Given the description of an element on the screen output the (x, y) to click on. 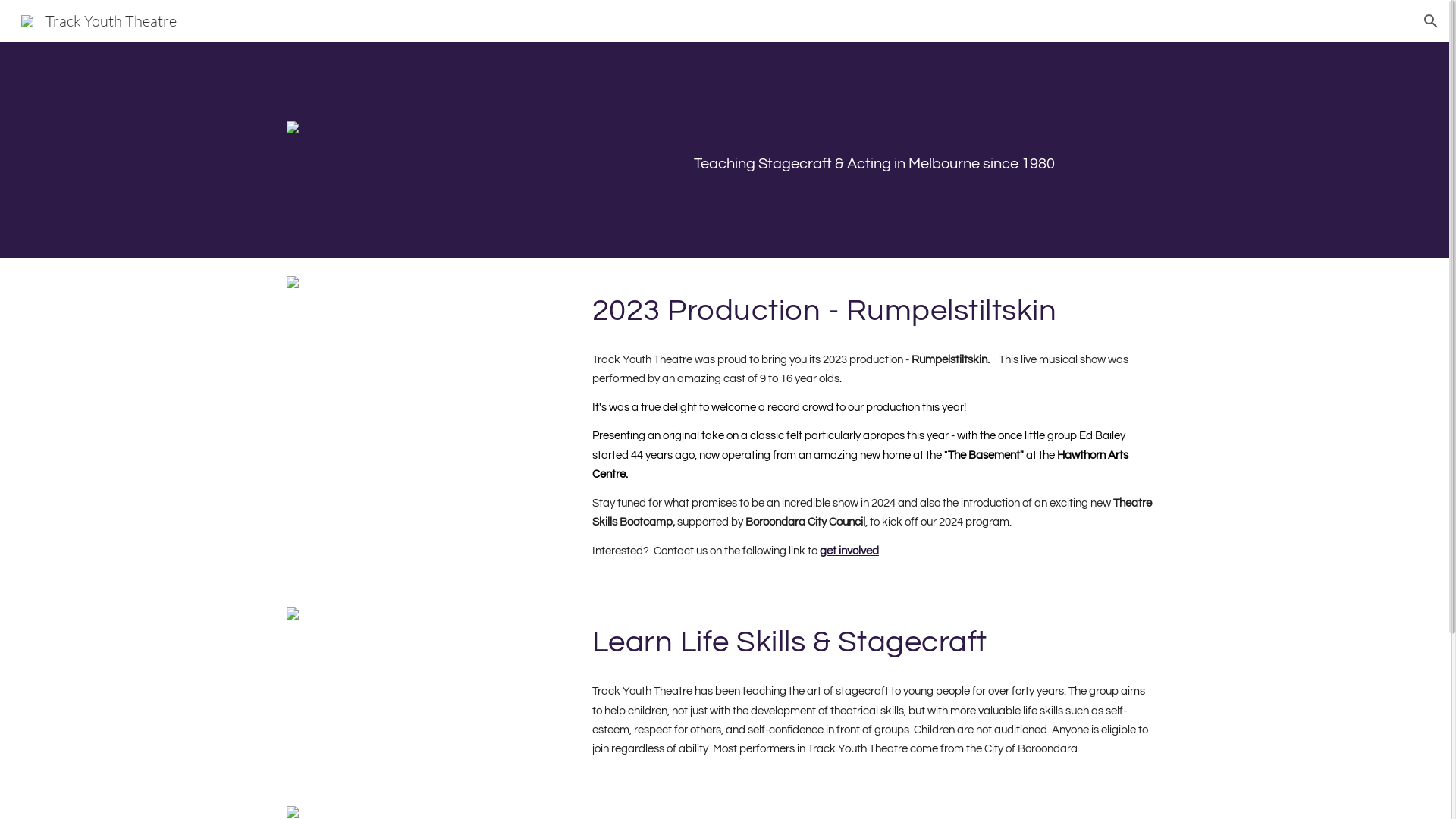
get involved Element type: text (848, 549)
Track Youth Theatre Element type: text (98, 18)
